Given the description of an element on the screen output the (x, y) to click on. 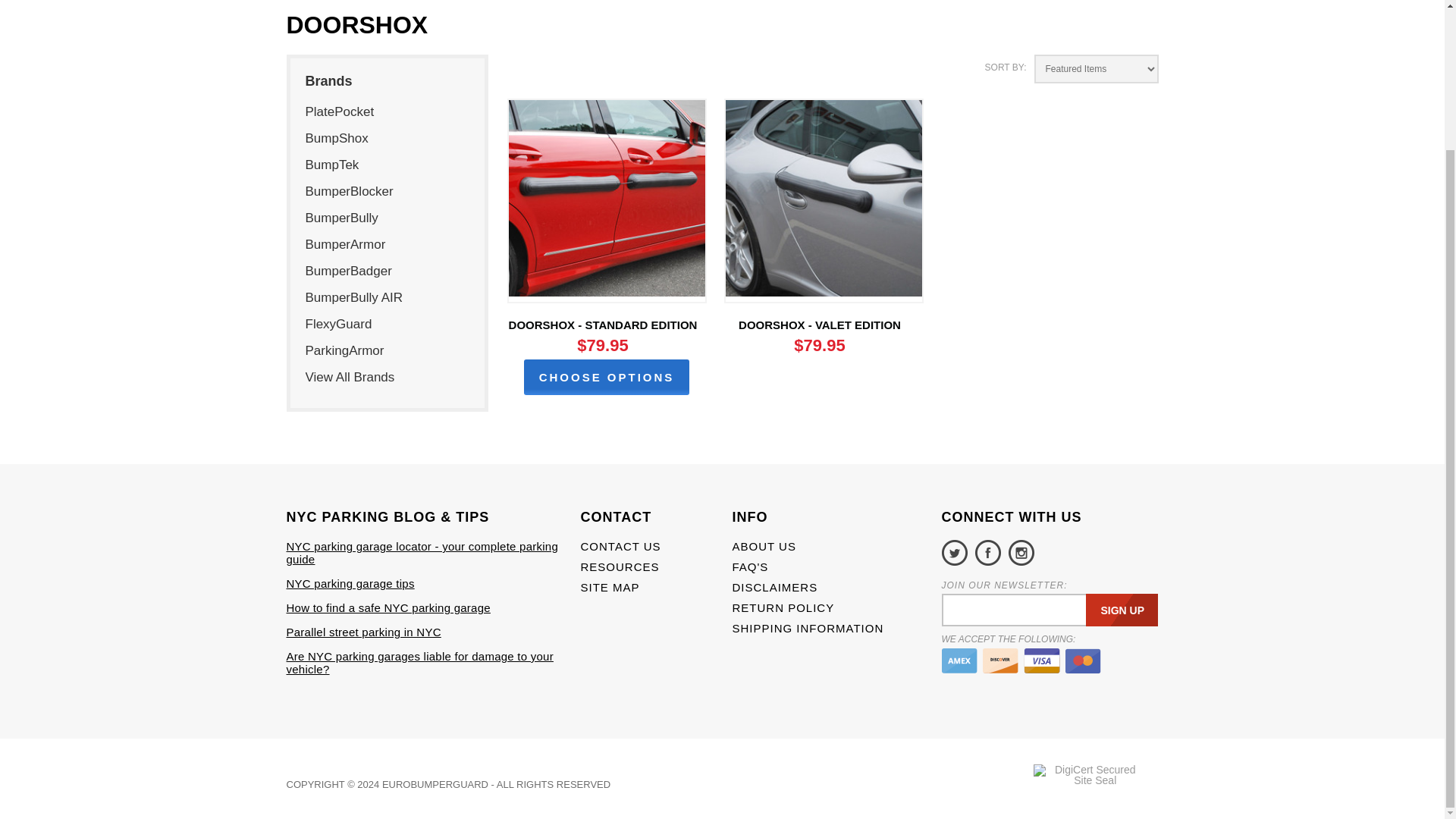
Sign up (1121, 609)
Facebook (988, 552)
Choose Options (607, 376)
Twitter (955, 552)
Instagram (1021, 552)
